Given the description of an element on the screen output the (x, y) to click on. 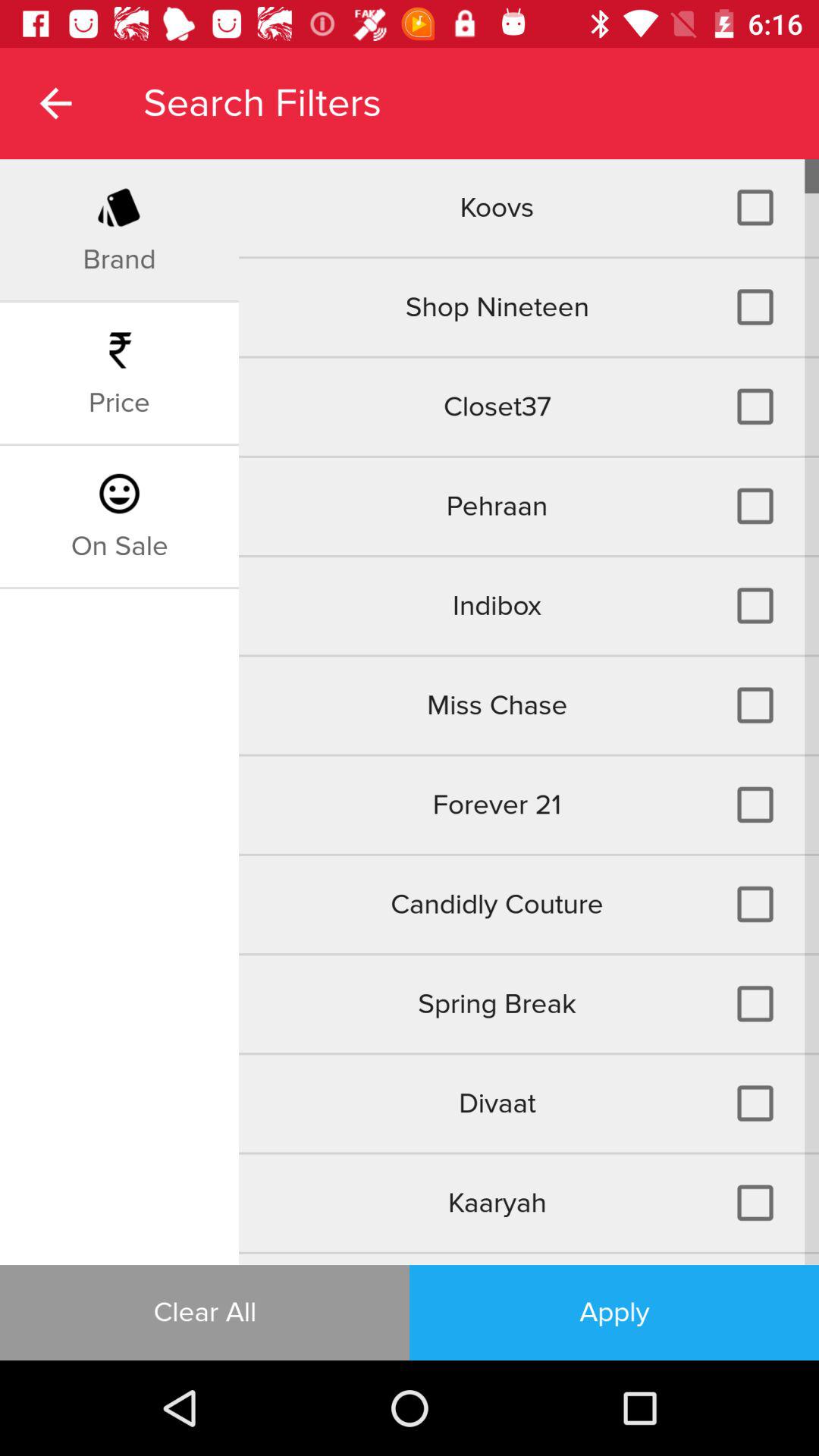
launch the clear all item (204, 1312)
